Given the description of an element on the screen output the (x, y) to click on. 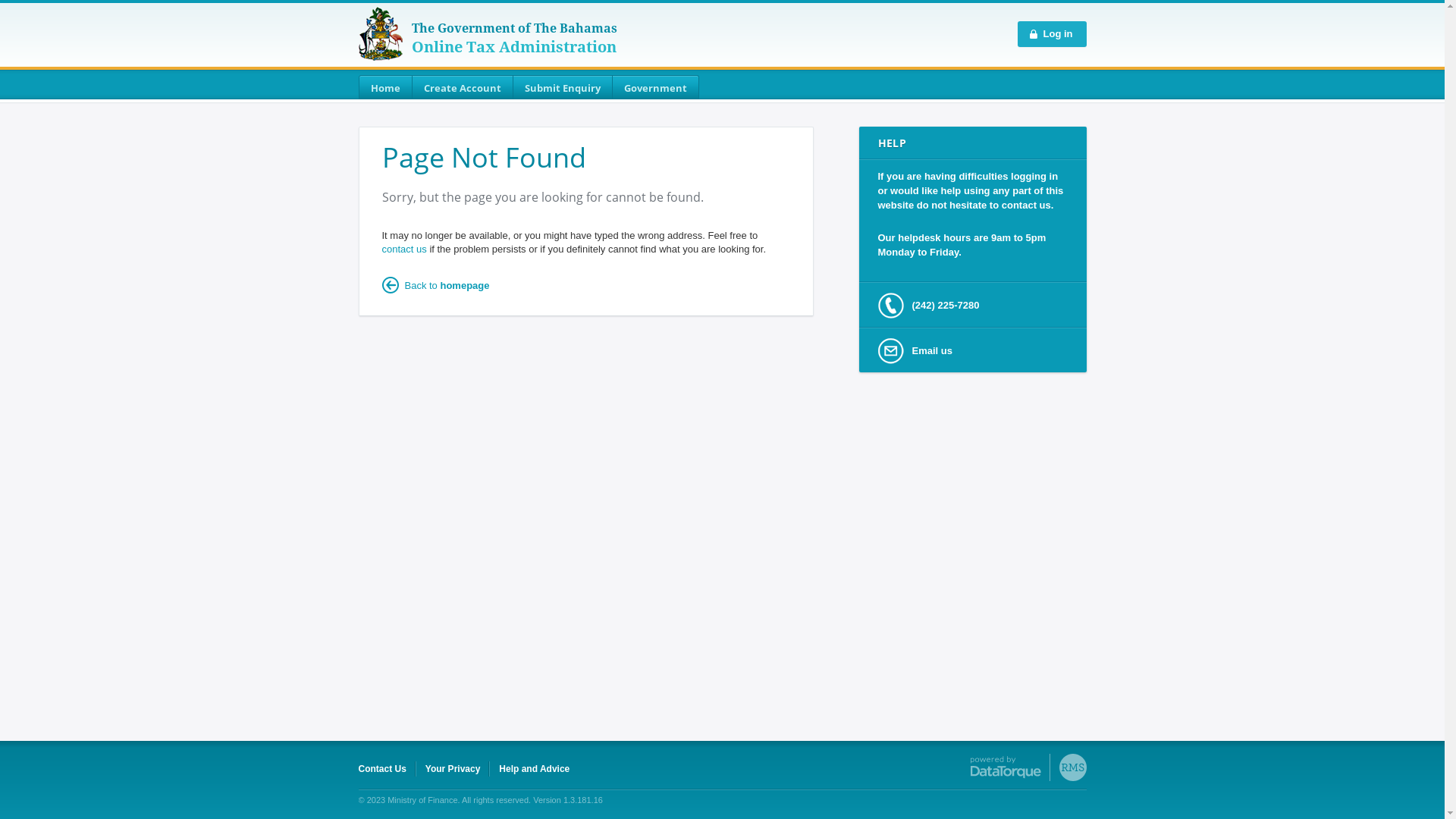
Visit Data Torque website Element type: hover (1027, 767)
Create Account Element type: text (462, 87)
Your Privacy Element type: text (452, 768)
(242) 225-7280 Element type: text (971, 305)
Email us Element type: text (971, 350)
Government Element type: text (655, 87)
Log in Element type: text (1051, 34)
Back to homepage Element type: text (435, 285)
contact us Element type: text (404, 248)
Help and Advice Element type: text (533, 768)
Contact Us Element type: text (381, 768)
Home Element type: text (384, 87)
Home Element type: hover (379, 33)
Submit Enquiry Element type: text (561, 87)
